Given the description of an element on the screen output the (x, y) to click on. 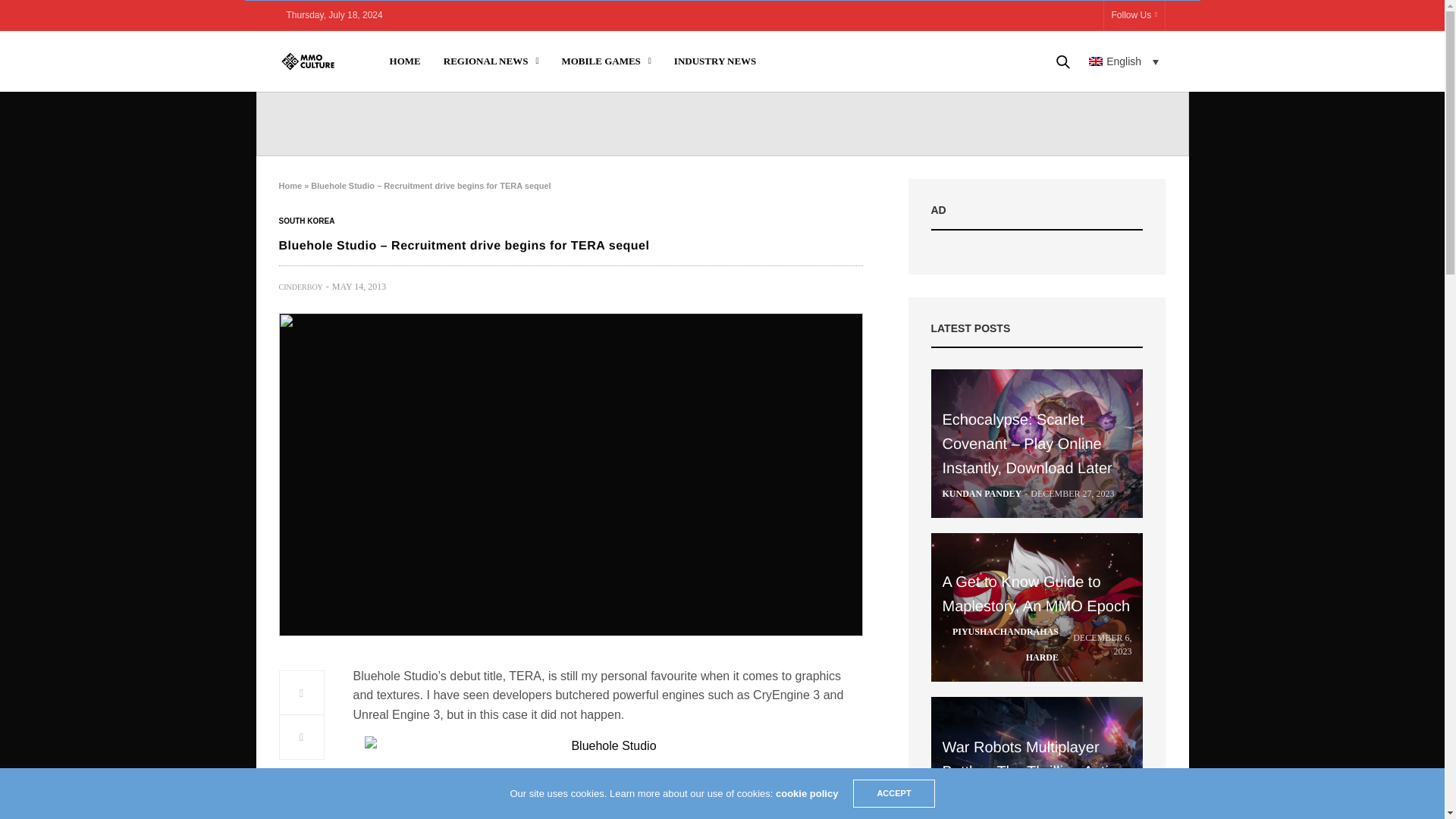
A Get to Know Guide to Maplestory, An MMO Epoch (1036, 607)
A Get to Know Guide to Maplestory, An MMO Epoch (1035, 594)
English (1123, 61)
HOME (405, 61)
INDUSTRY NEWS (715, 61)
Search (1041, 112)
Posts by Anshal Jain (972, 813)
REGIONAL NEWS (491, 61)
Thursday, July 18, 2024 (334, 15)
South Korea (306, 221)
Posts by cinderboy (301, 287)
MOBILE GAMES (605, 61)
Posts by Piyushachandrahas Harde (1000, 644)
